Given the description of an element on the screen output the (x, y) to click on. 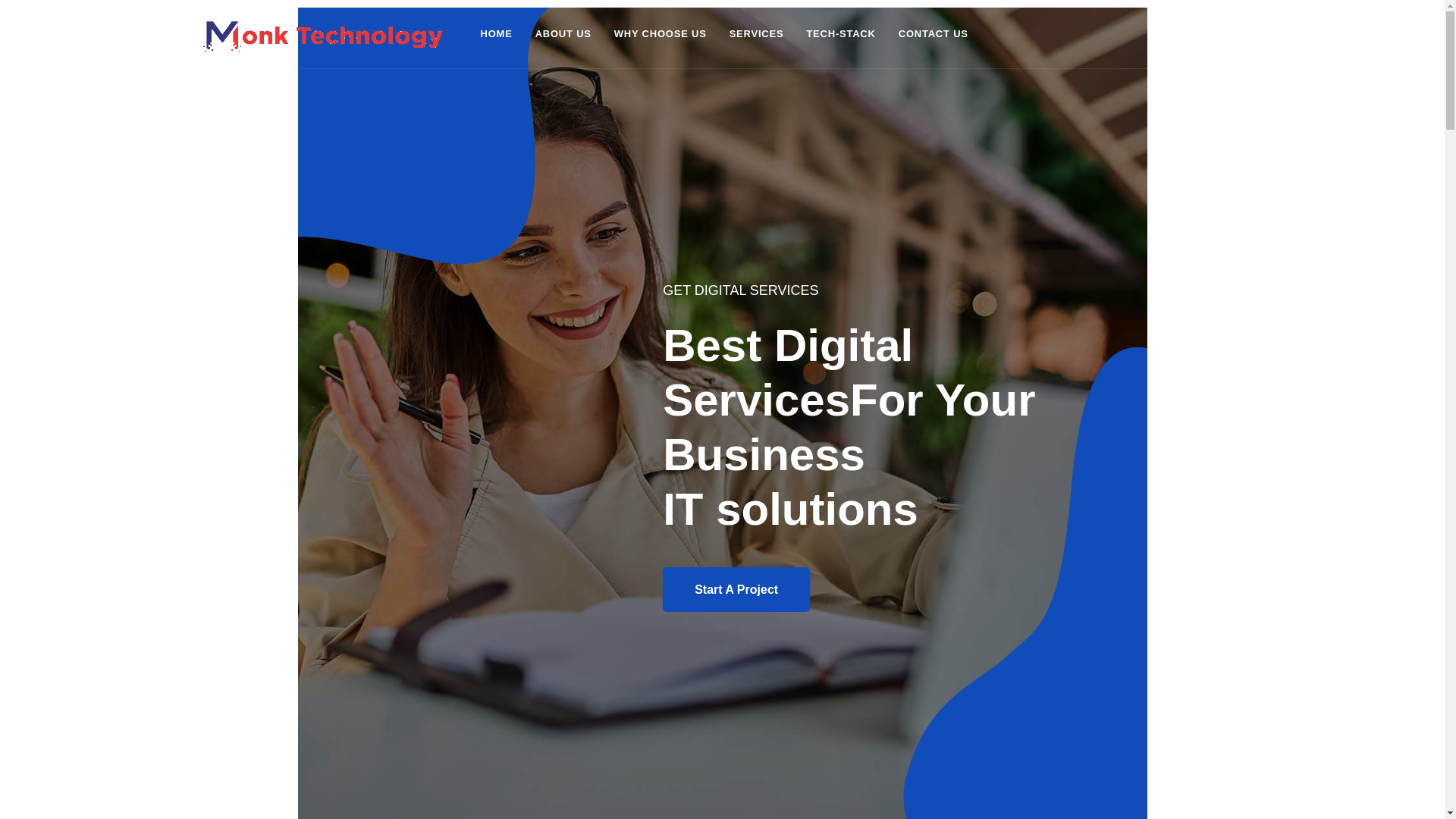
HOME (495, 33)
TECH-STACK (840, 33)
services (755, 33)
Start A Project (735, 589)
Home (495, 33)
CONTACT US (932, 33)
tech-stack (840, 33)
WHY CHOOSE US (659, 33)
About Us (563, 33)
ABOUT US (563, 33)
WHY CHOOSE US (659, 33)
SERVICES (755, 33)
Contact Us (932, 33)
